Given the description of an element on the screen output the (x, y) to click on. 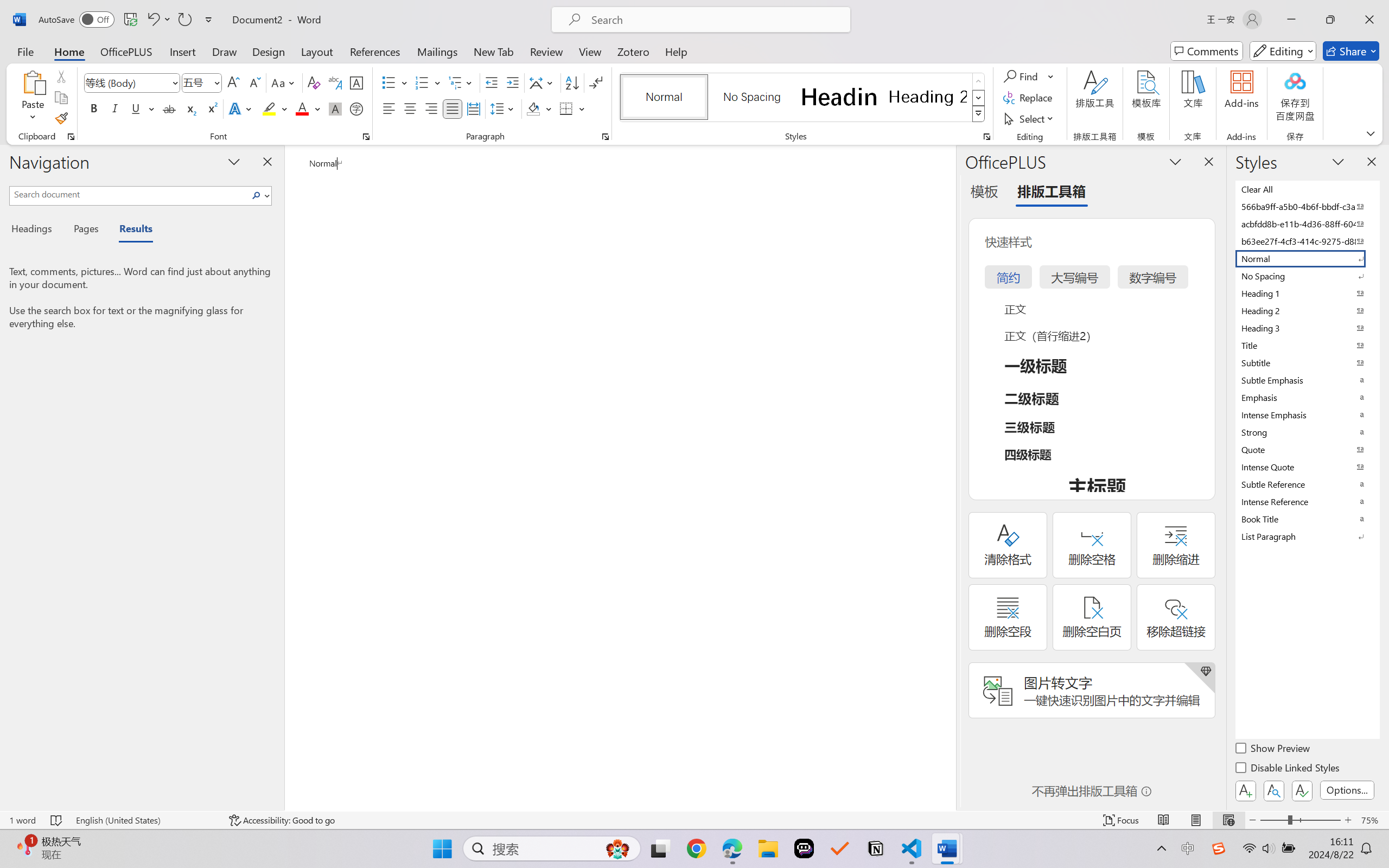
Book Title (1306, 518)
Share (1350, 51)
Row Down (978, 97)
Save (130, 19)
566ba9ff-a5b0-4b6f-bbdf-c3ab41993fc2 (1306, 206)
Subtle Reference (1306, 484)
Comments (1206, 50)
Open (215, 82)
Clear Formatting (313, 82)
Justify (452, 108)
